Given the description of an element on the screen output the (x, y) to click on. 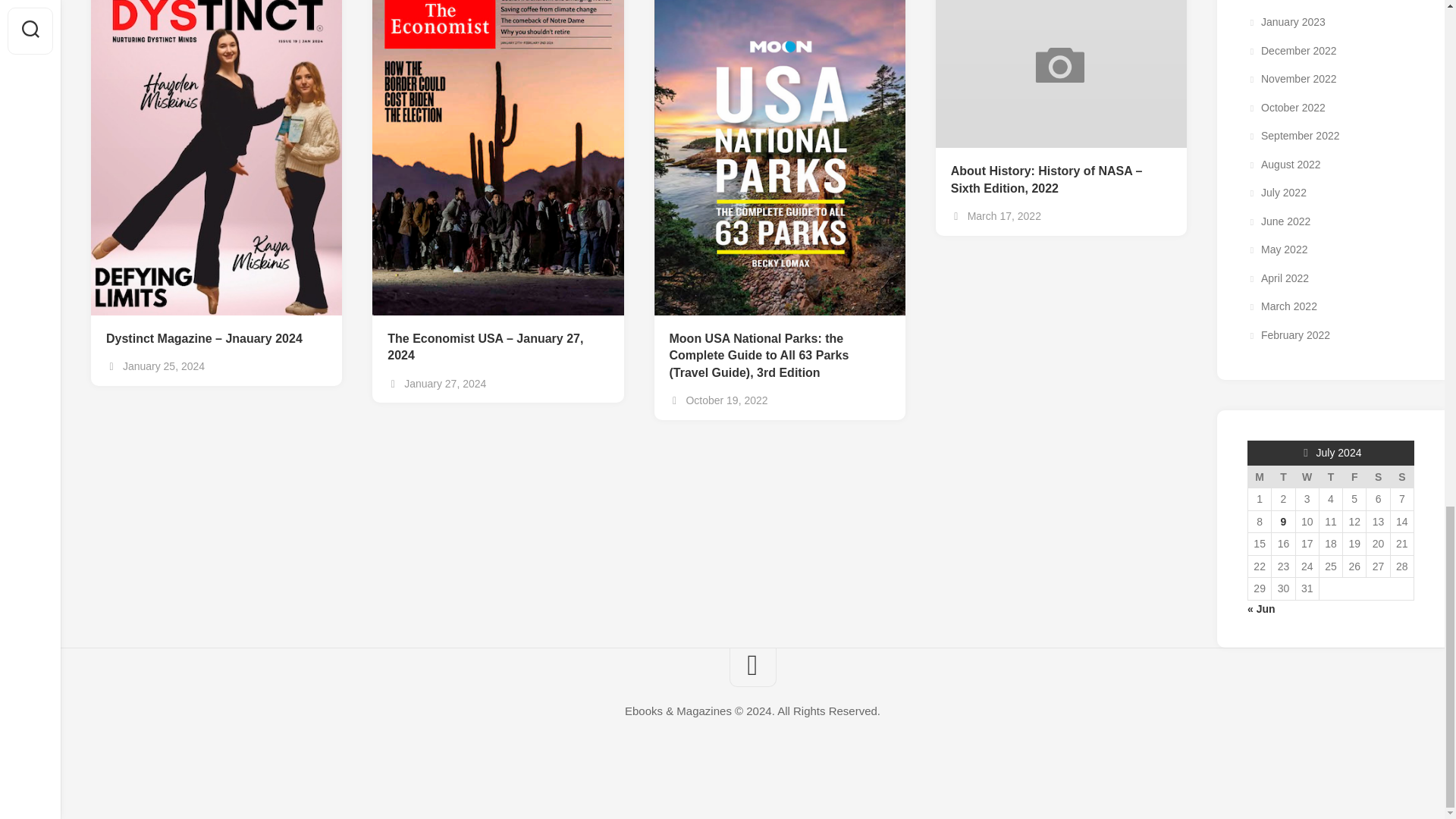
Tuesday (1283, 477)
Saturday (1378, 477)
Wednesday (1307, 477)
Sunday (1401, 477)
Monday (1259, 477)
Thursday (1330, 477)
Friday (1354, 477)
